Given the description of an element on the screen output the (x, y) to click on. 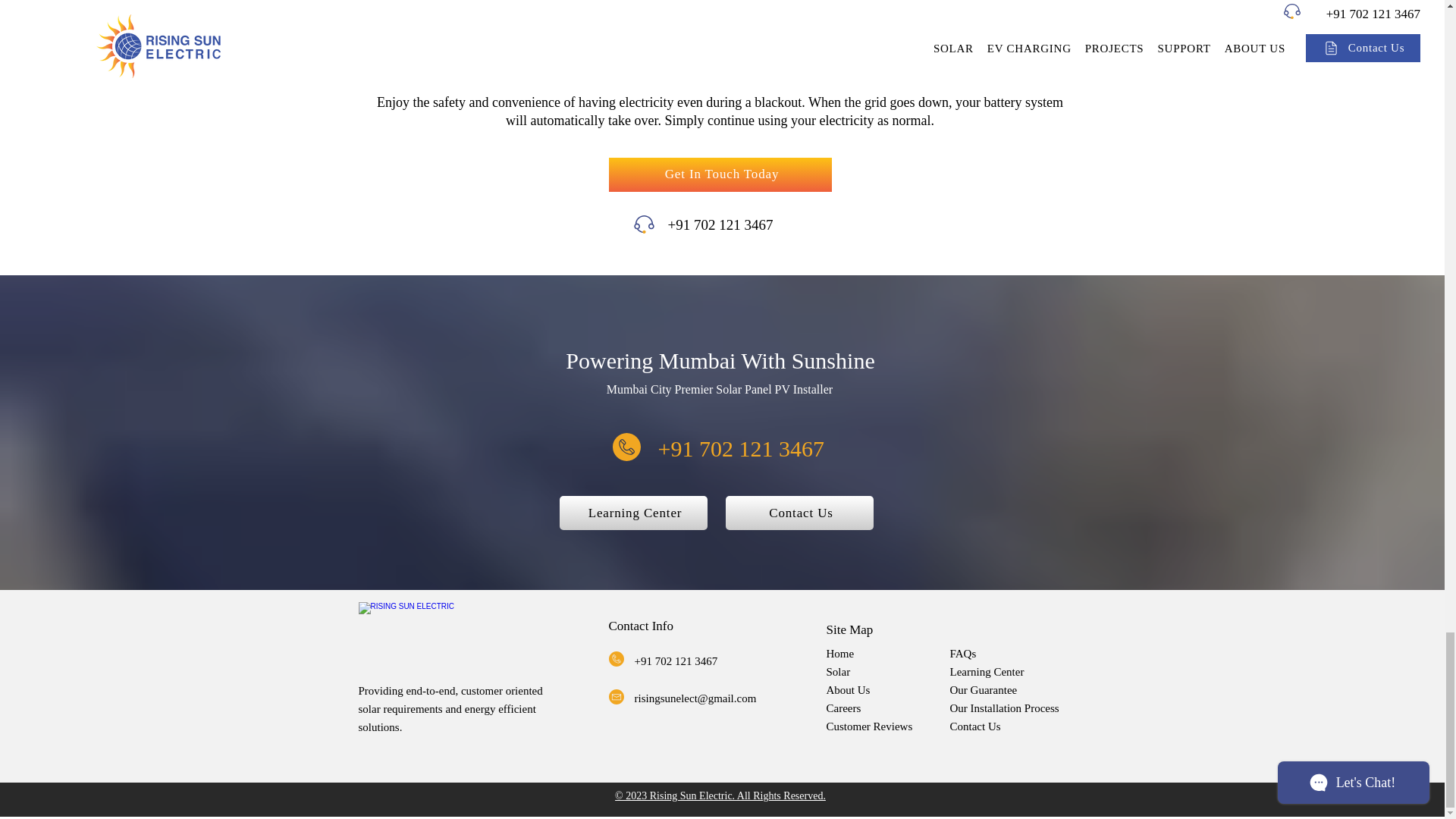
Get In Touch Today (719, 174)
